Given the description of an element on the screen output the (x, y) to click on. 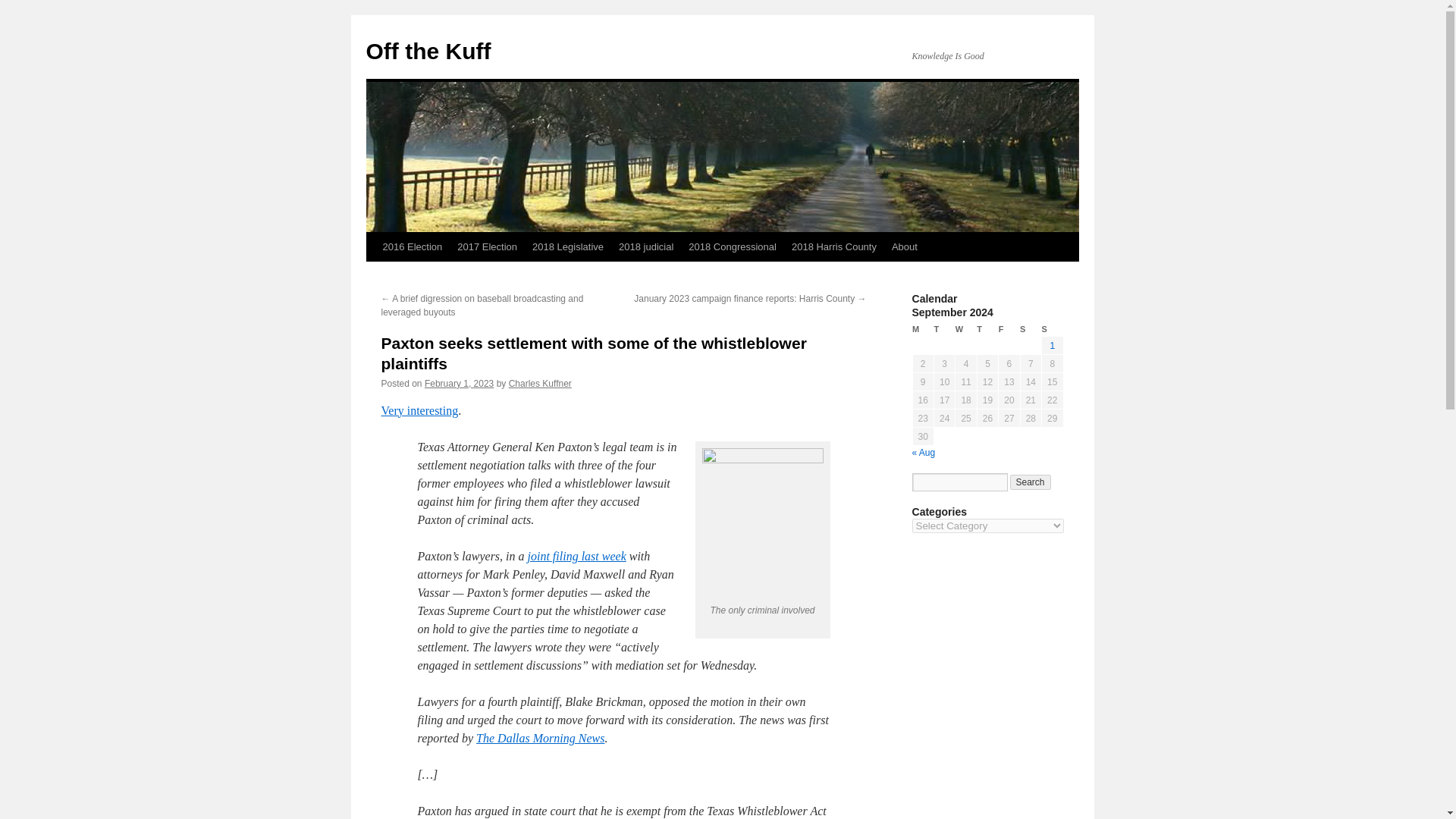
Wednesday (965, 329)
2018 Congressional (732, 246)
View all posts by Charles Kuffner (540, 383)
Very interesting (419, 410)
2018 judicial (646, 246)
Tuesday (944, 329)
Sunday (1052, 329)
Monday (922, 329)
Thursday (986, 329)
2016 Election (411, 246)
